Given the description of an element on the screen output the (x, y) to click on. 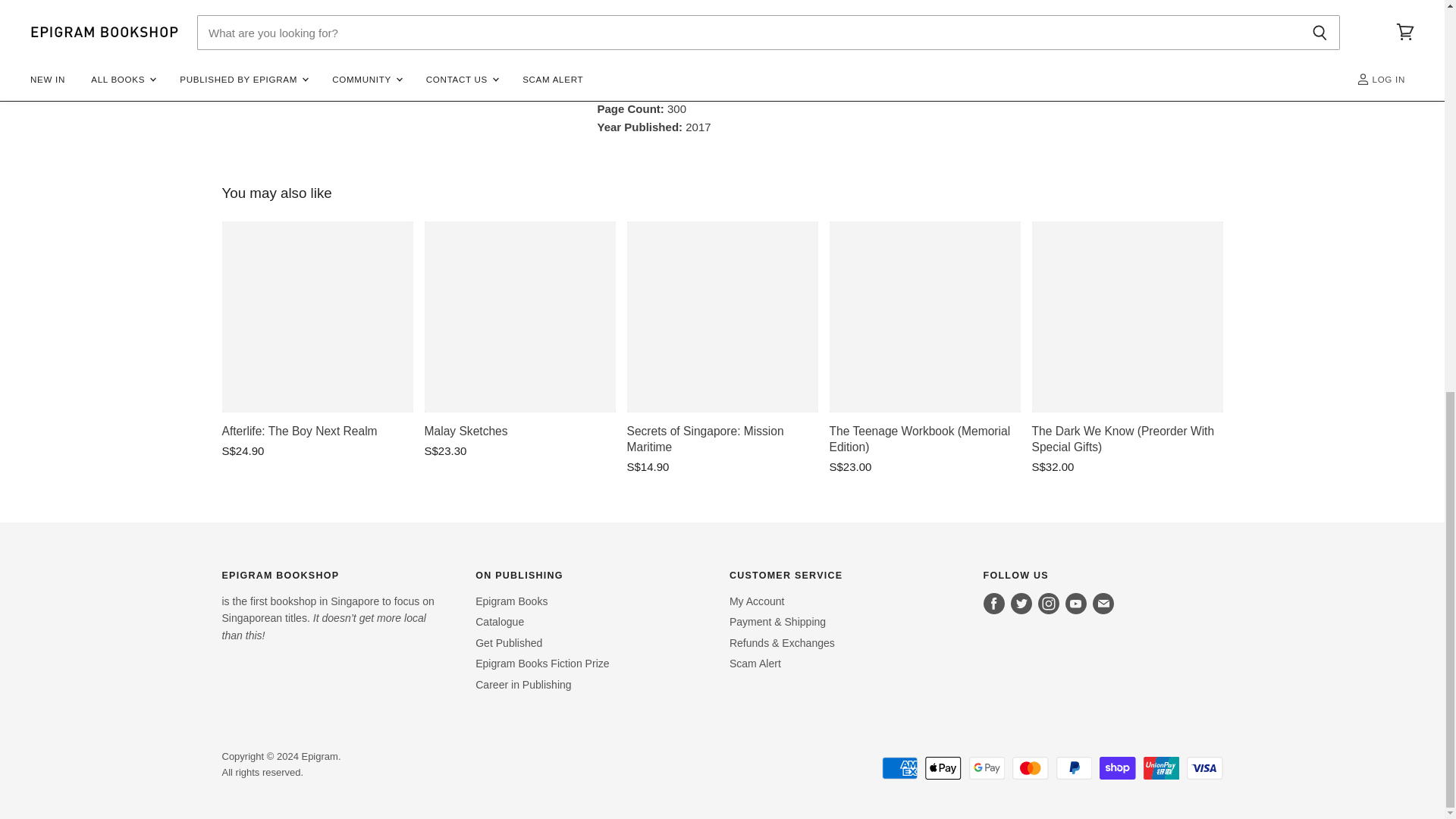
E-mail (1102, 603)
Youtube (1075, 603)
Instagram (1048, 603)
Facebook (993, 603)
Twitter (1021, 603)
